Given the description of an element on the screen output the (x, y) to click on. 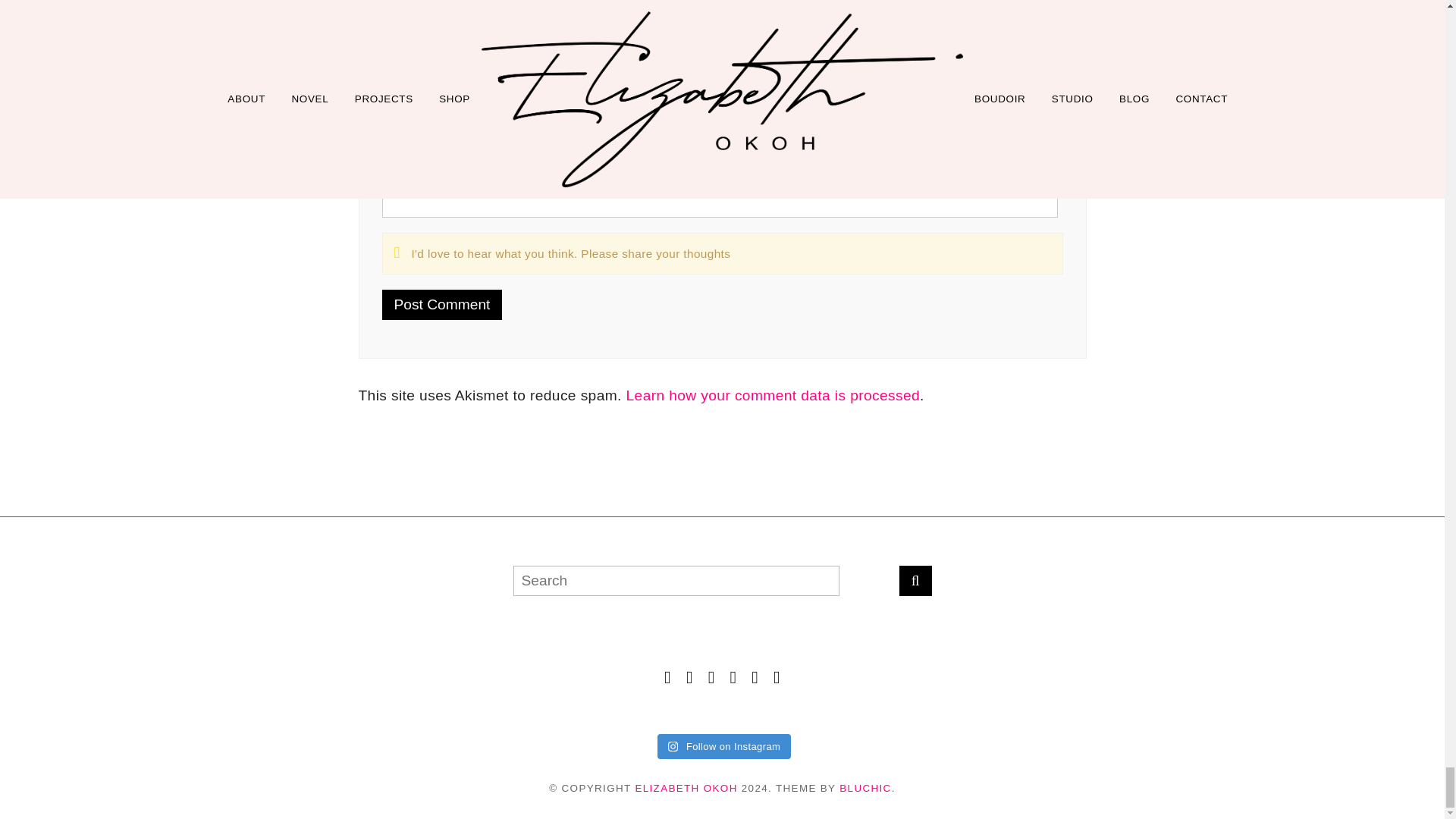
Post Comment (441, 304)
